Given the description of an element on the screen output the (x, y) to click on. 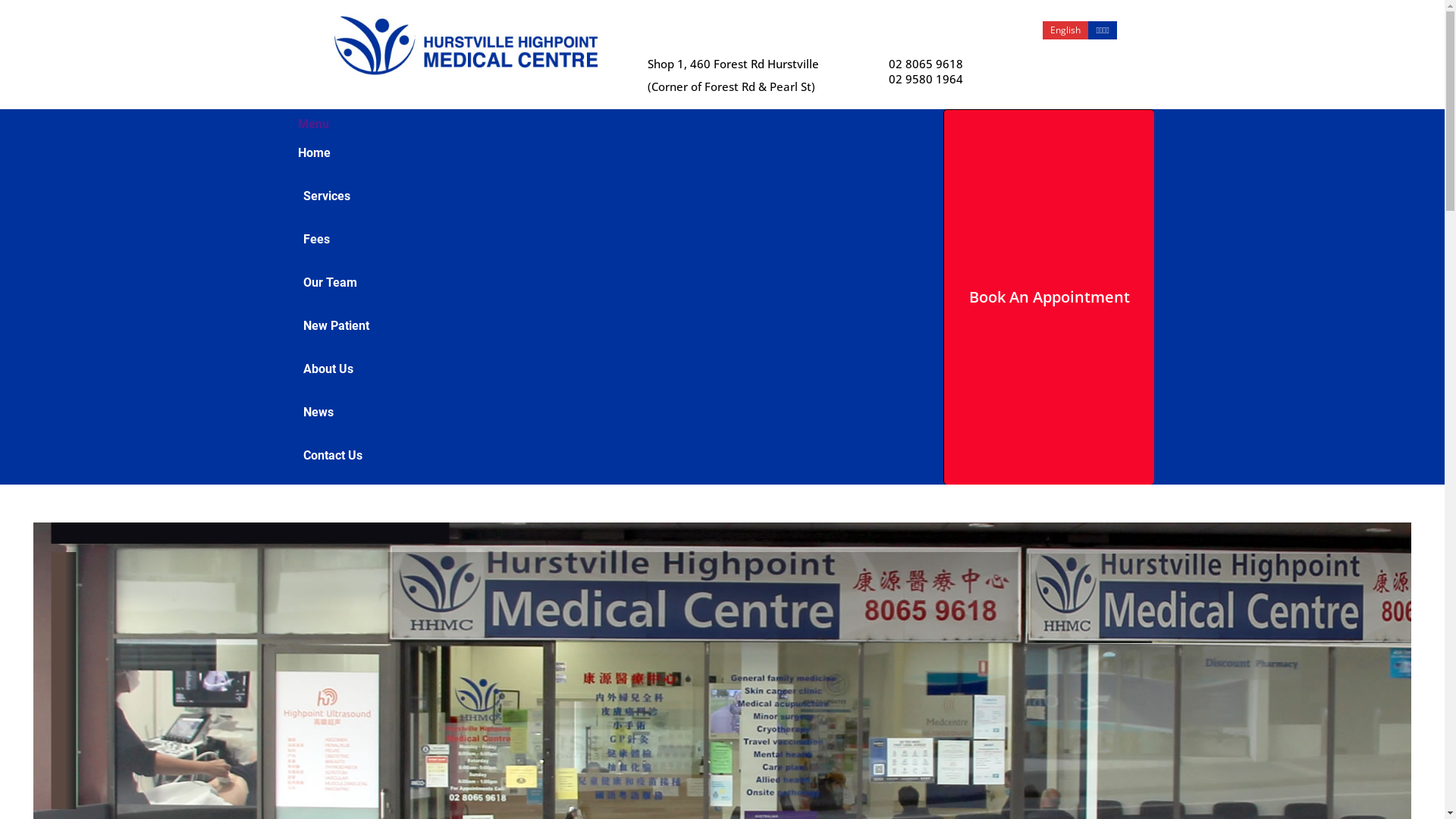
Shop 1, 460 Forest Rd Hurstville Element type: text (733, 63)
02 8065 9618
02 9580 1964 Element type: text (925, 71)
Services Element type: text (616, 195)
Menu Element type: text (312, 123)
News Element type: text (616, 411)
Contact Us Element type: text (619, 455)
English Element type: text (1065, 30)
Home Element type: text (613, 152)
Our Team Element type: text (616, 282)
About Us Element type: text (616, 368)
New Patient Element type: text (616, 325)
Book An Appointment Element type: text (1049, 296)
Fees Element type: text (616, 238)
